Given the description of an element on the screen output the (x, y) to click on. 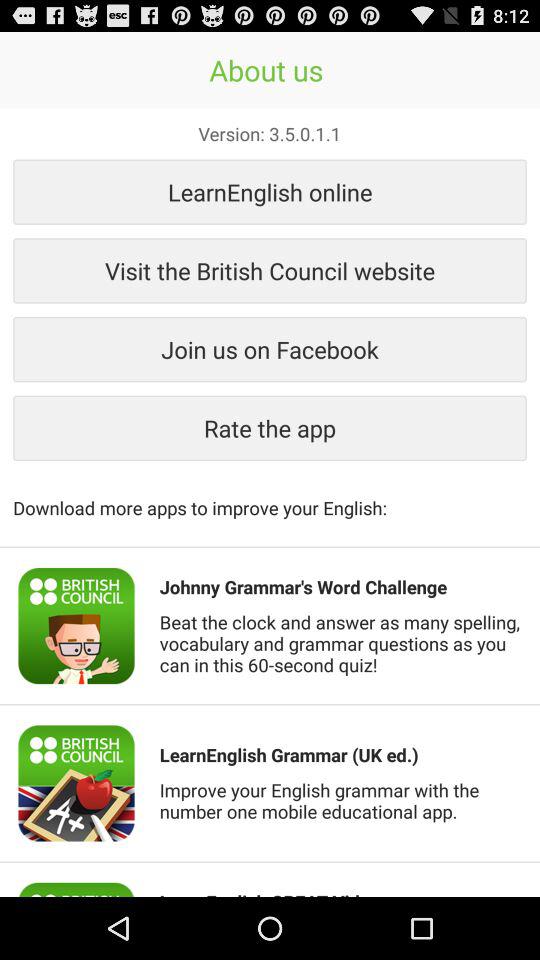
choose the button below the learnenglish online icon (269, 270)
